Given the description of an element on the screen output the (x, y) to click on. 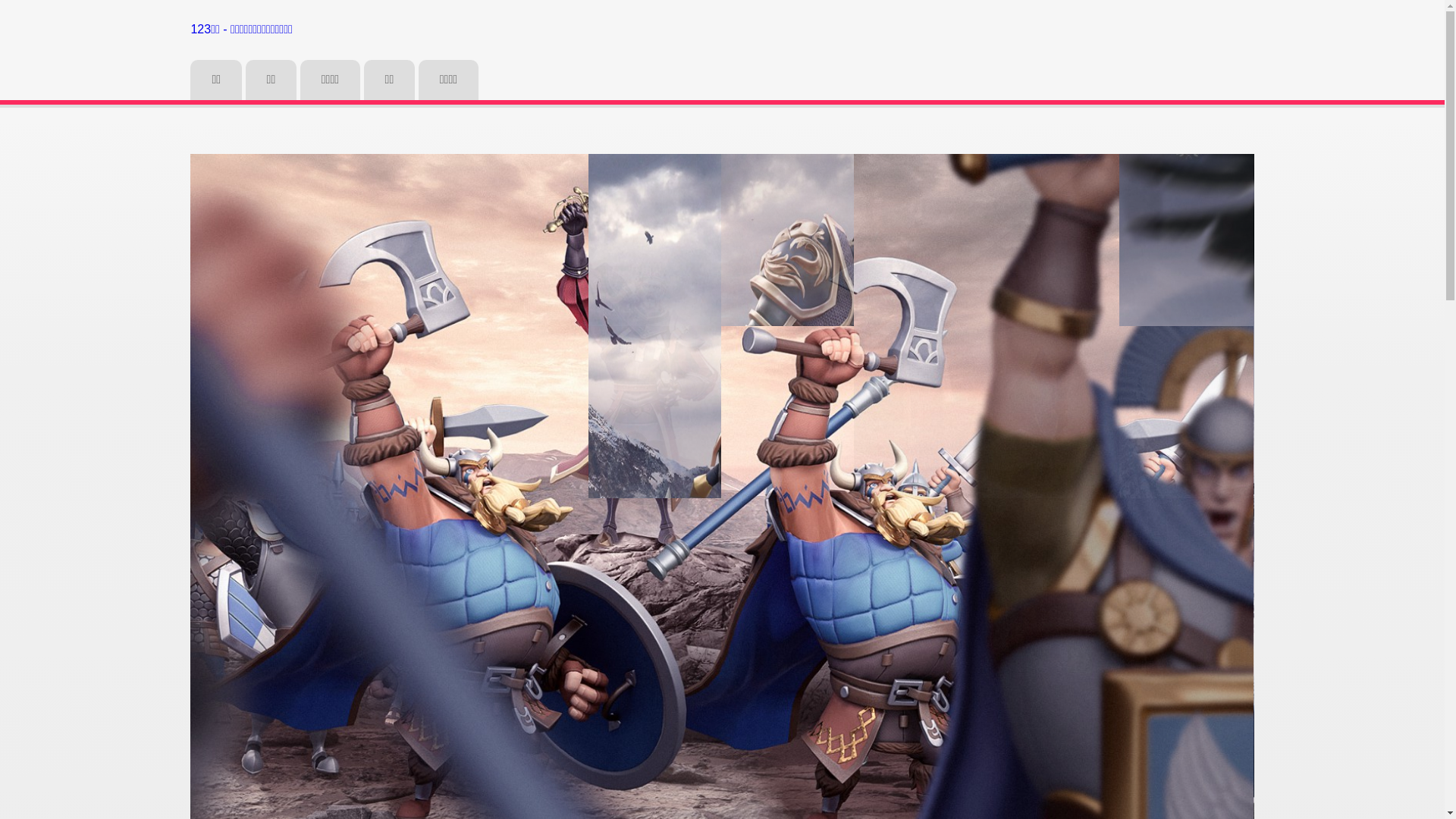
2 Element type: text (1239, 700)
3 Element type: text (1258, 700)
1 Element type: text (1223, 700)
